Given the description of an element on the screen output the (x, y) to click on. 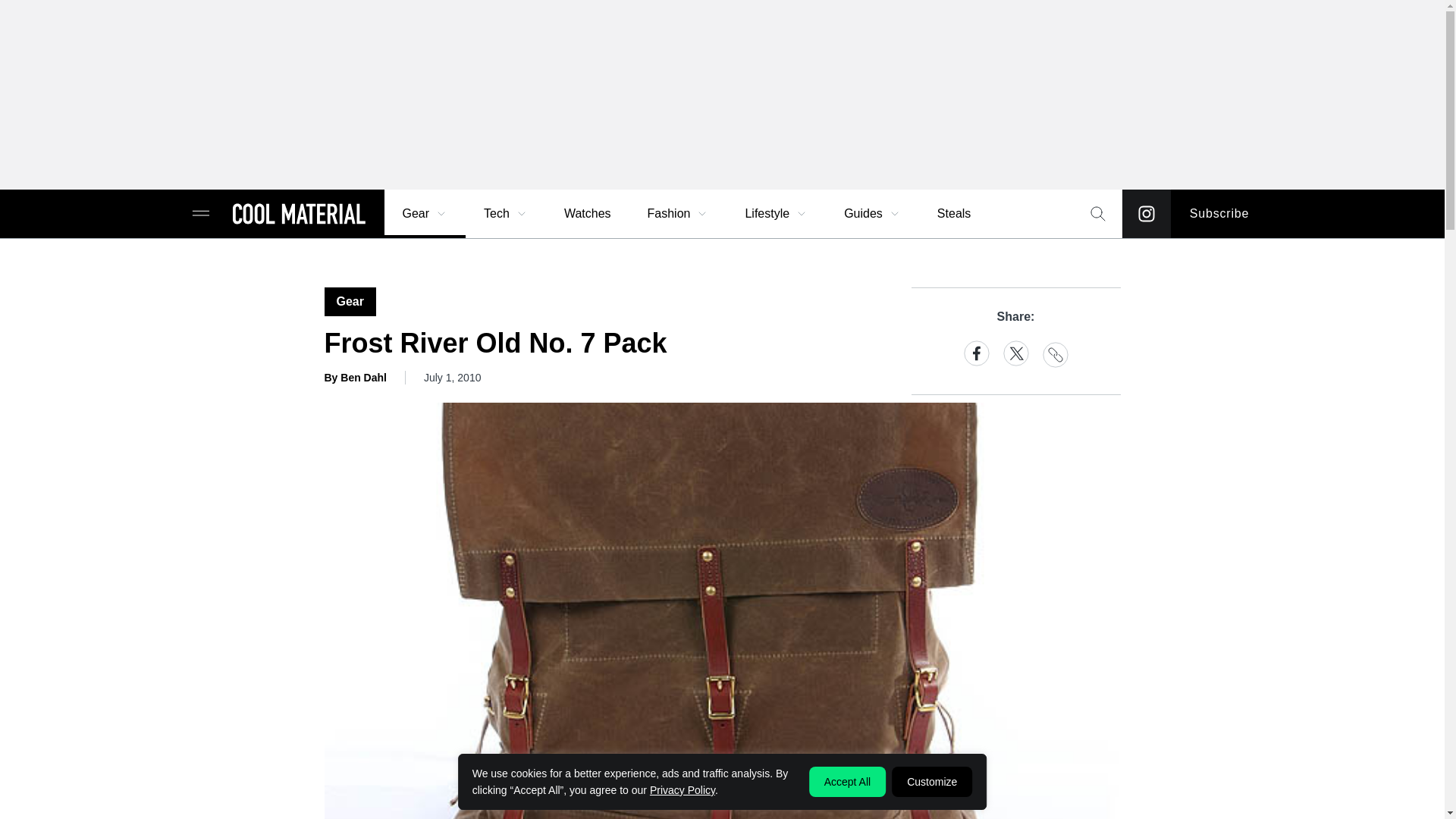
Lifestyle (775, 213)
Customize (931, 781)
Watches (587, 213)
Fashion (677, 213)
Tech (505, 213)
Accept All (847, 781)
Privacy Policy (681, 789)
Gear (424, 213)
